Given the description of an element on the screen output the (x, y) to click on. 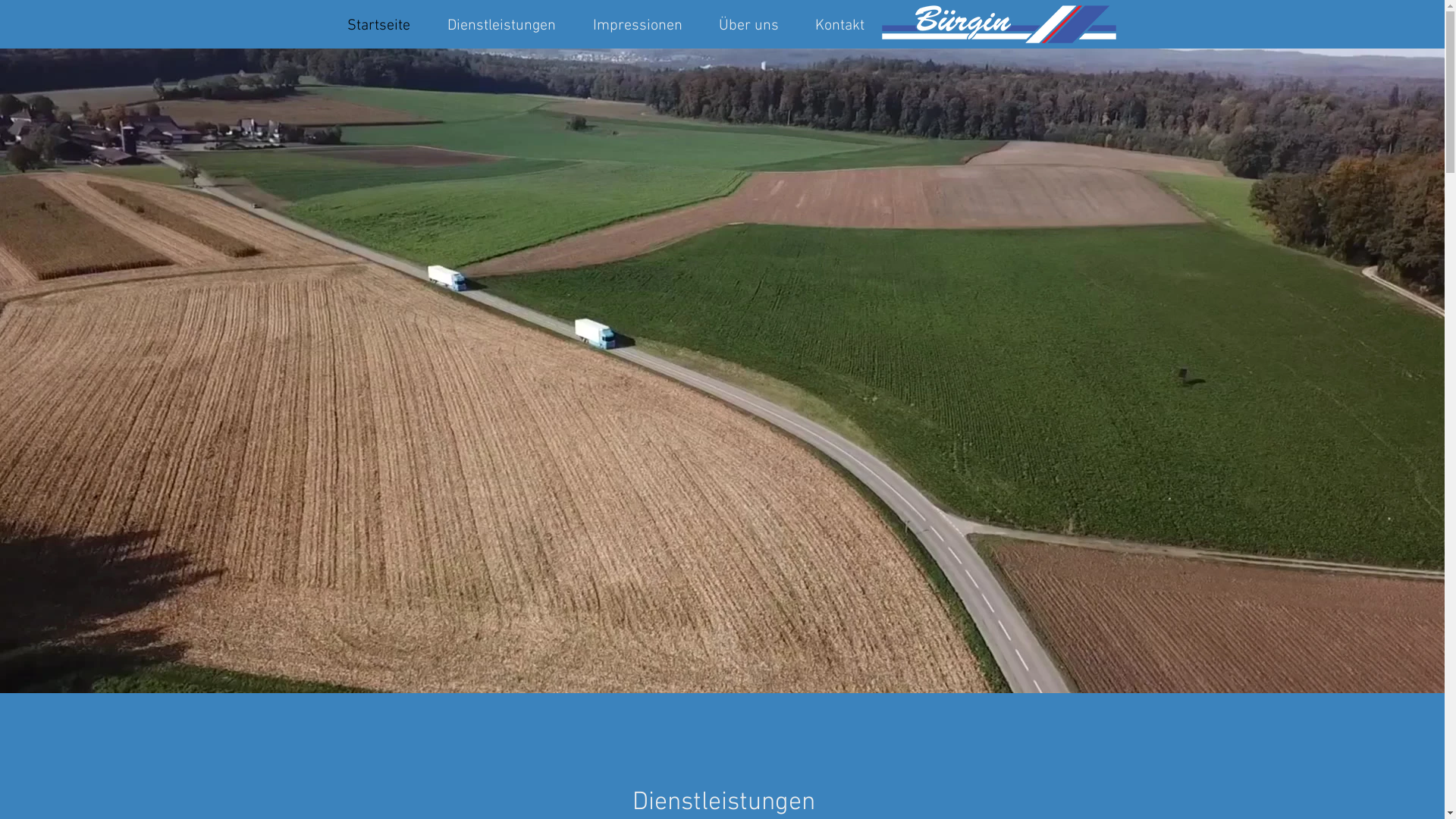
Kontakt Element type: text (838, 24)
Cookie Alert Element type: hover (359, 53)
Dienstleistungen Element type: text (501, 24)
TWIPLA (Visitor Analytics) Element type: hover (472, 164)
Startseite Element type: text (379, 24)
Impressionen Element type: text (637, 24)
